Given the description of an element on the screen output the (x, y) to click on. 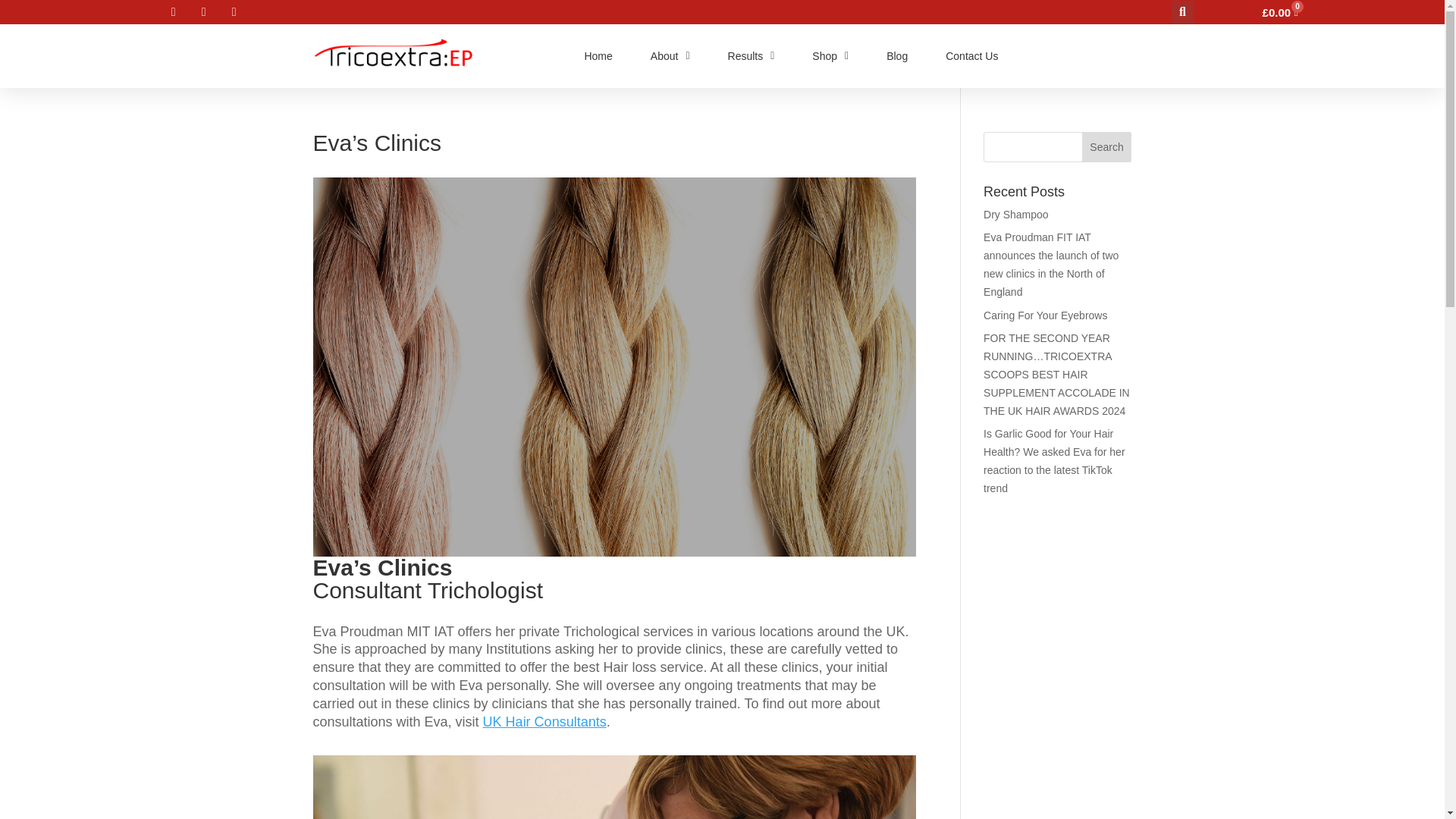
Search (1106, 146)
Results (751, 55)
Contact Us (970, 55)
About (670, 55)
Shop (830, 55)
